Given the description of an element on the screen output the (x, y) to click on. 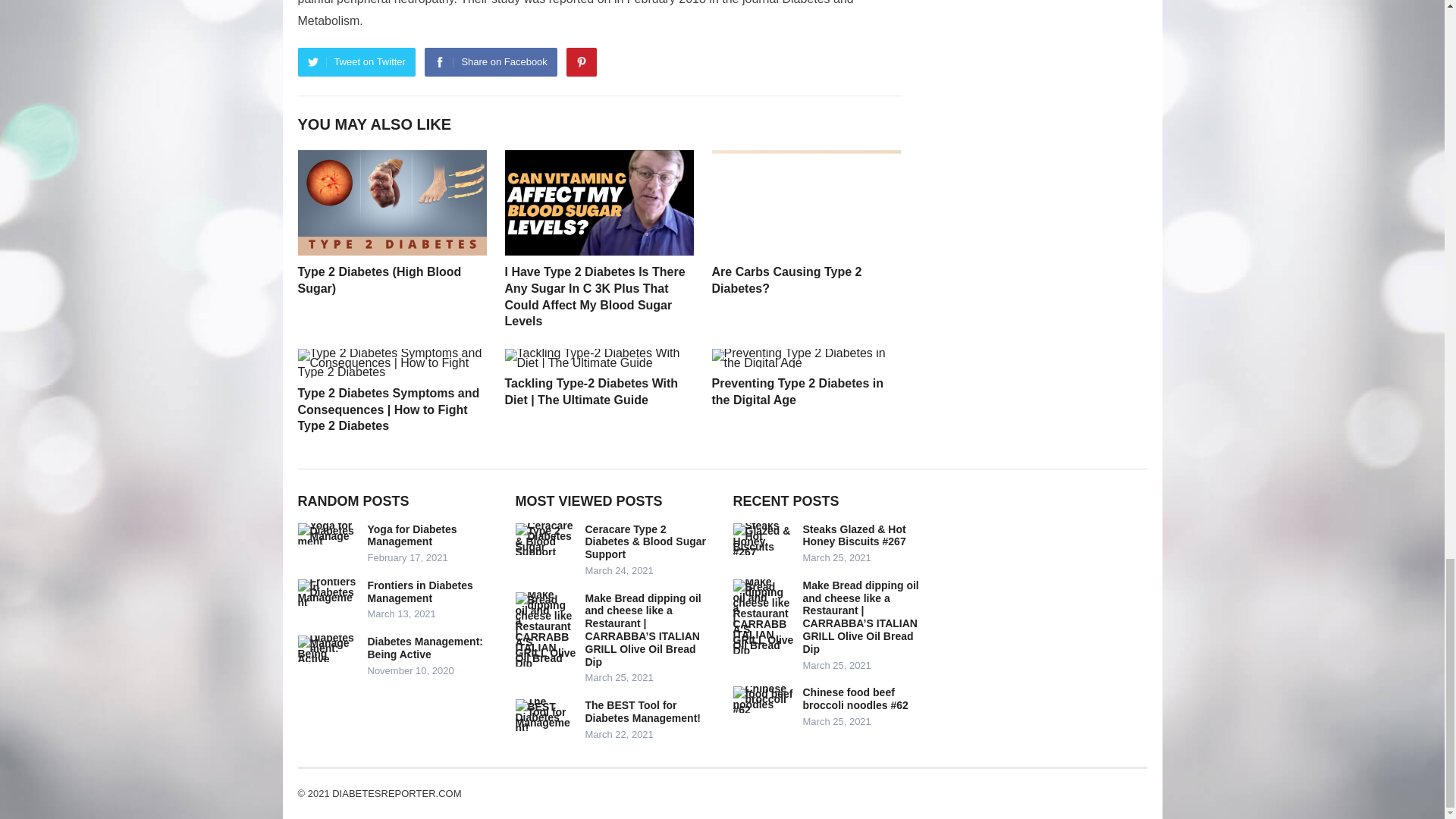
Pinterest (581, 61)
Tweet on Twitter (355, 61)
Preventing Type 2 Diabetes in the Digital Age 12 (805, 358)
Are Carbs Causing Type 2 Diabetes? 6 (805, 202)
Share on Facebook (490, 61)
